Given the description of an element on the screen output the (x, y) to click on. 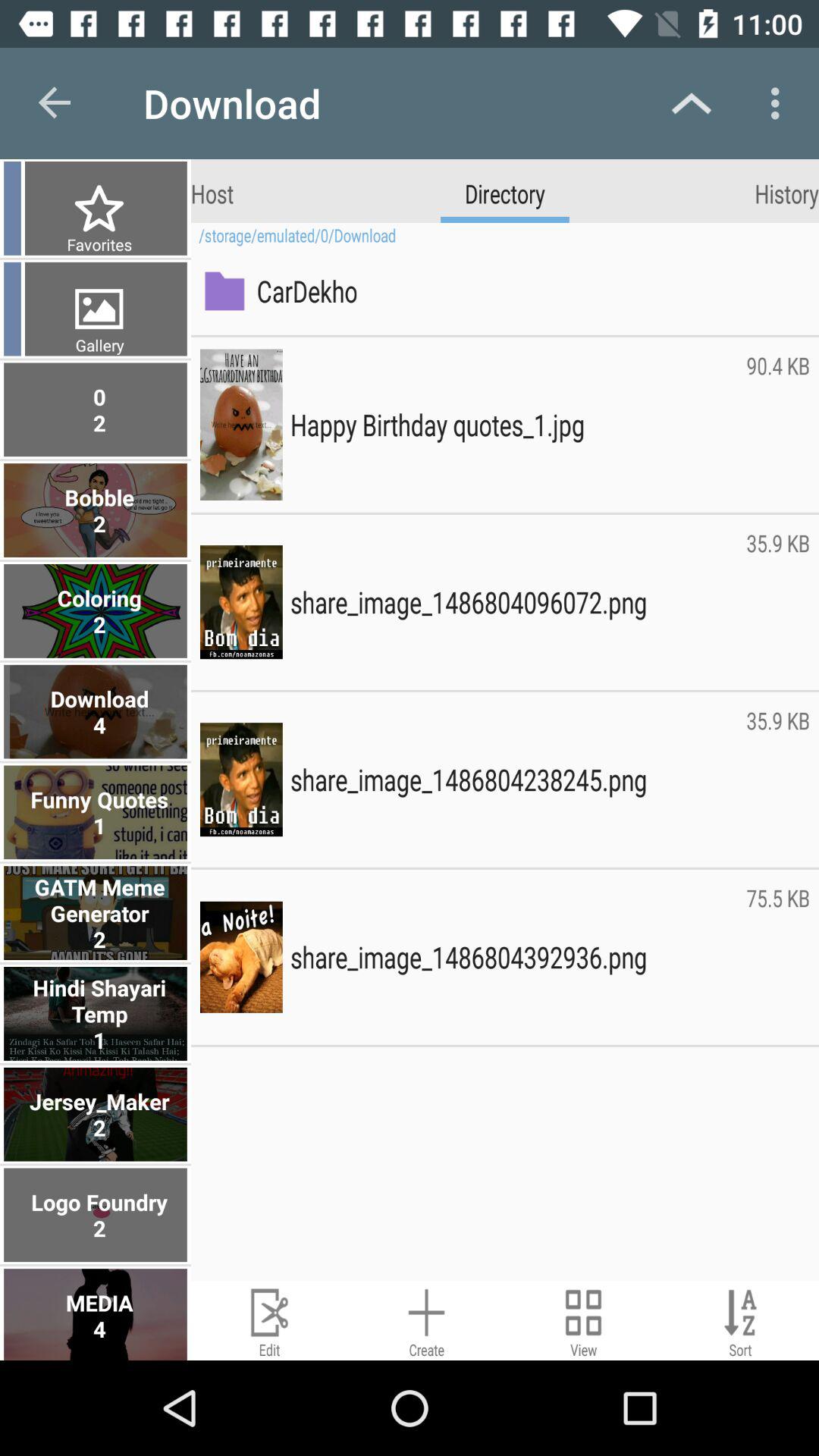
turn on the item below the cardekho (777, 424)
